Given the description of an element on the screen output the (x, y) to click on. 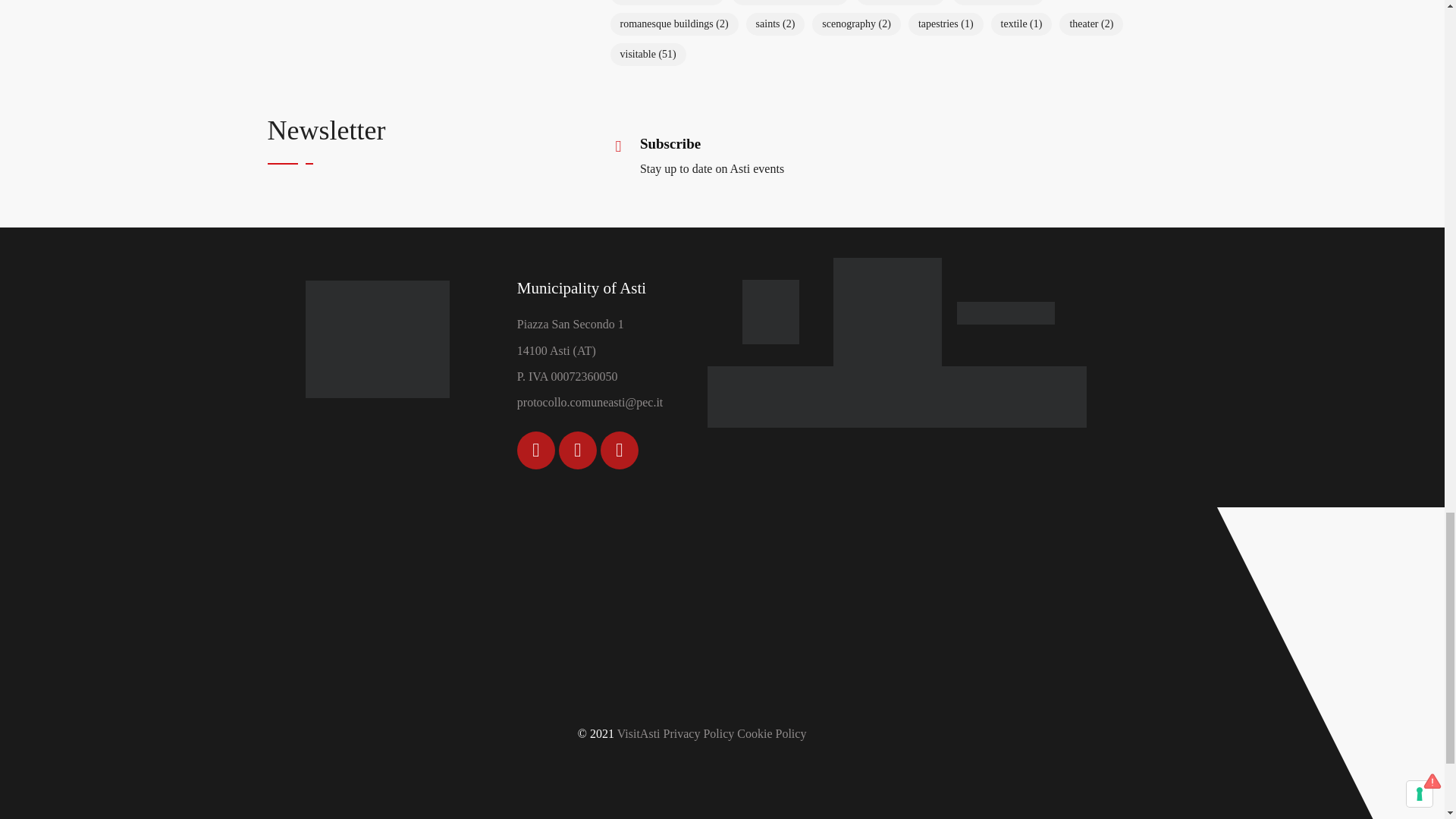
visitasti (376, 338)
piemonte (1005, 311)
langhe monferrato roero (886, 311)
fondi europei (896, 397)
comune di asti (770, 311)
